Given the description of an element on the screen output the (x, y) to click on. 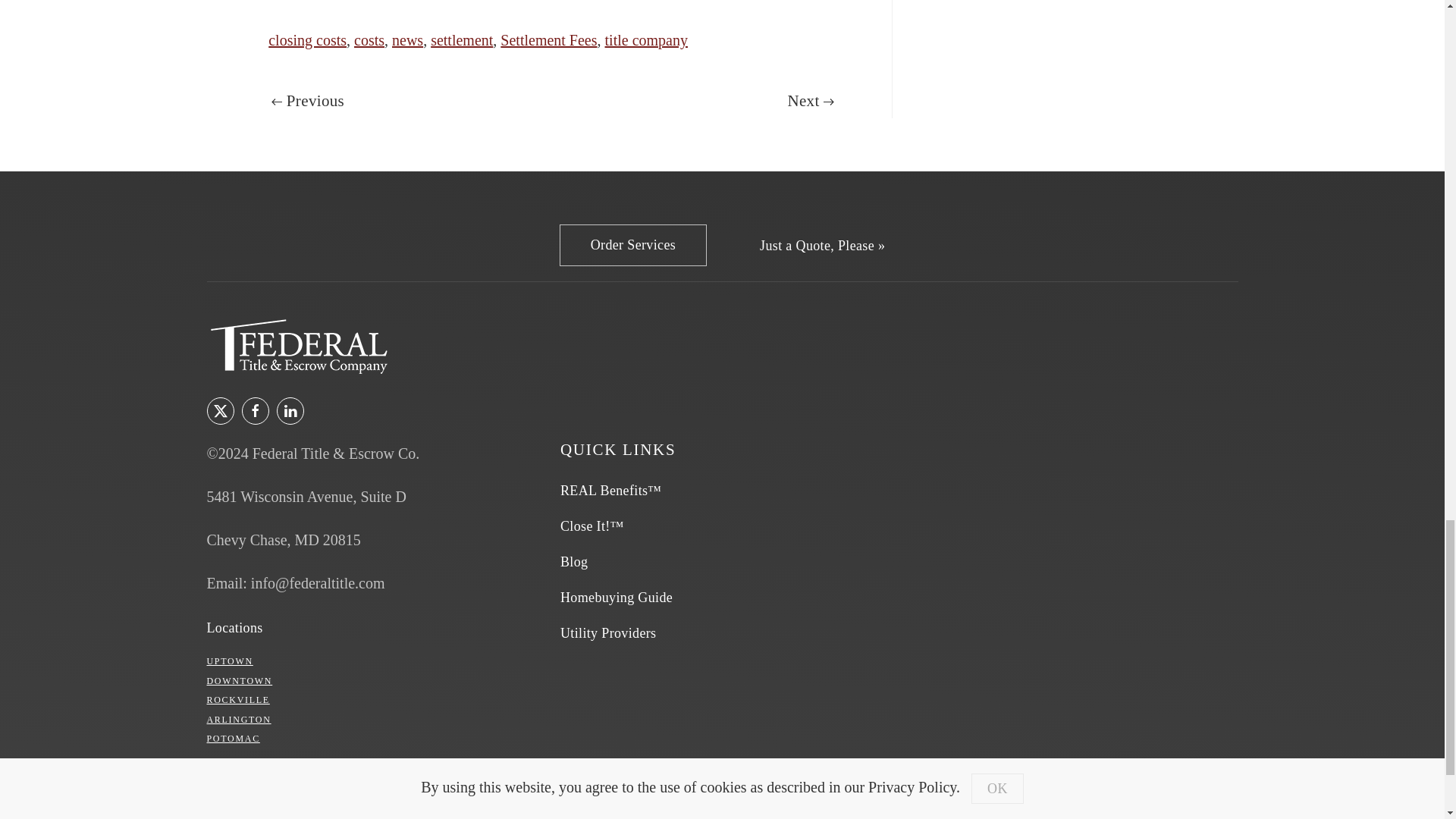
Title Company Washington DC (228, 661)
homebuying blog DC, MD, VA (574, 561)
Title Company Arlington VA (238, 719)
Title Company Rockville MD (237, 699)
Title Company DC (239, 680)
utility contacts for DC, MD, VA (608, 633)
Title Company Potomac MD (232, 738)
homebuying DC, MD, VA (616, 597)
Title Insurance,  Settlement Services (632, 245)
title company near you (234, 627)
Calculate Closing Costs (822, 245)
